Given the description of an element on the screen output the (x, y) to click on. 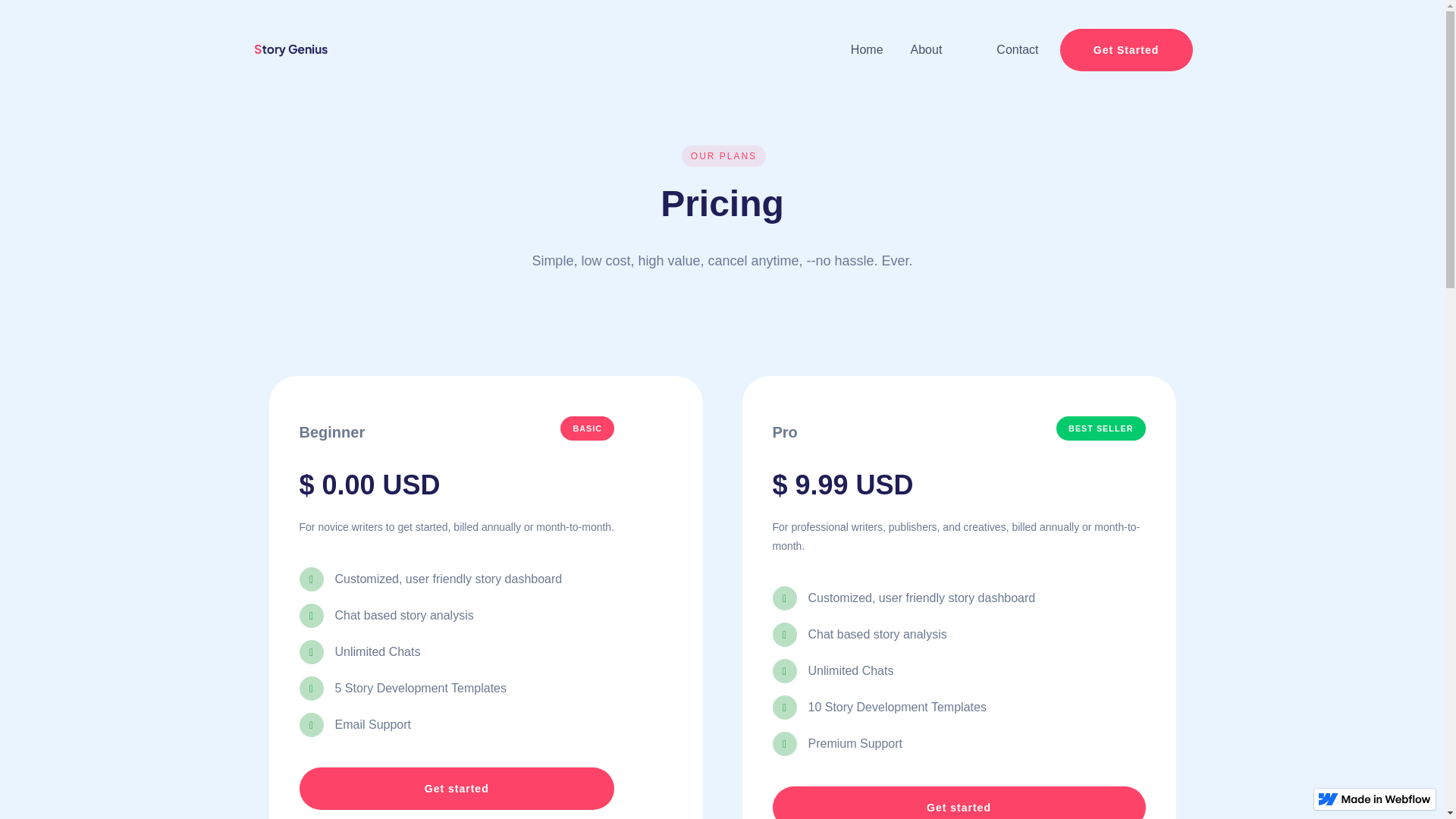
About (926, 49)
Home (866, 49)
Contact (1016, 49)
Get started (456, 788)
Get Started (1125, 49)
Get started (957, 802)
